Given the description of an element on the screen output the (x, y) to click on. 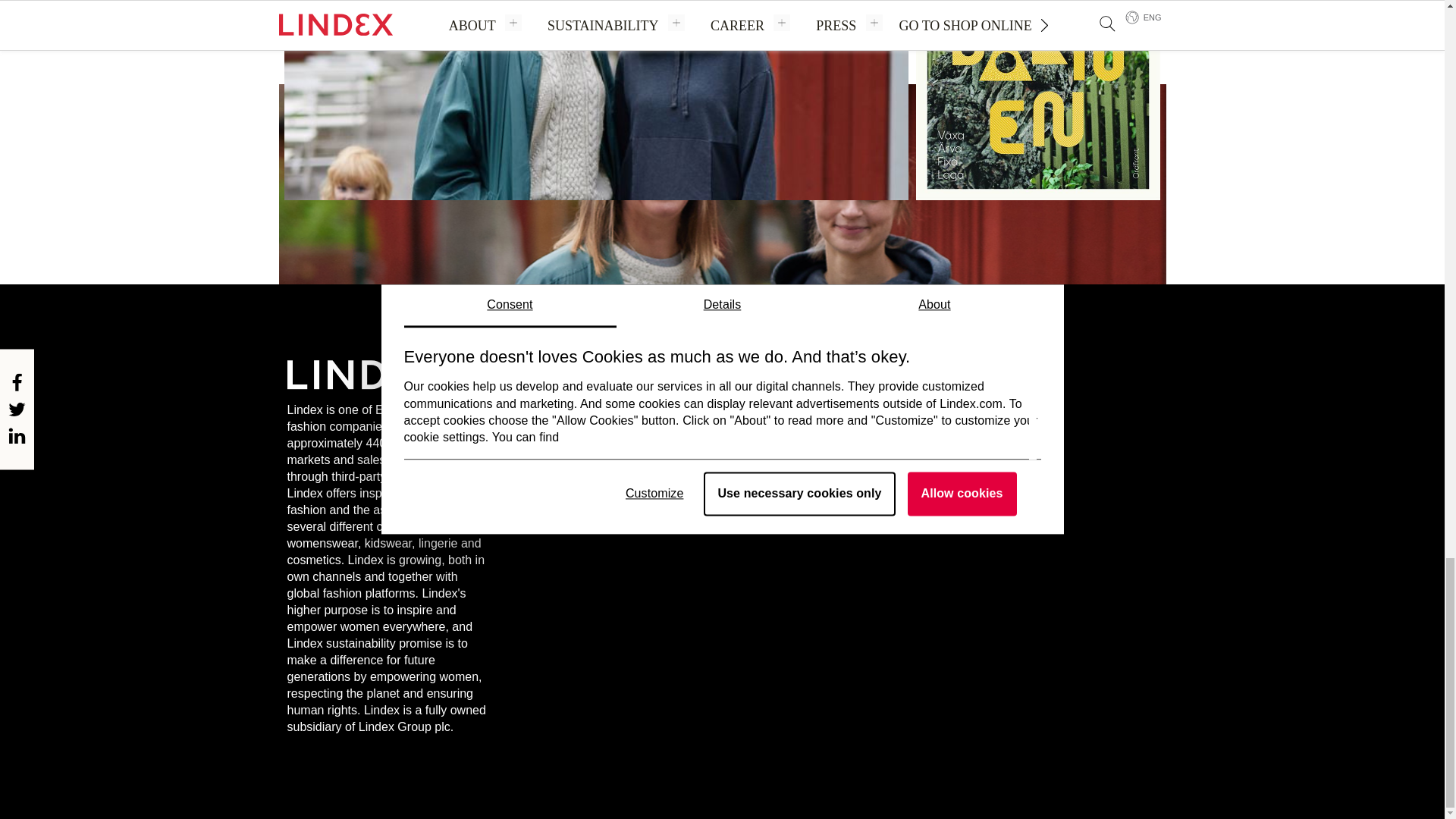
LinkedIn logo (1046, 415)
Instagram logo (970, 415)
YouTube logo (1008, 415)
Facebook logo (893, 415)
Twitter logo (931, 415)
